Given the description of an element on the screen output the (x, y) to click on. 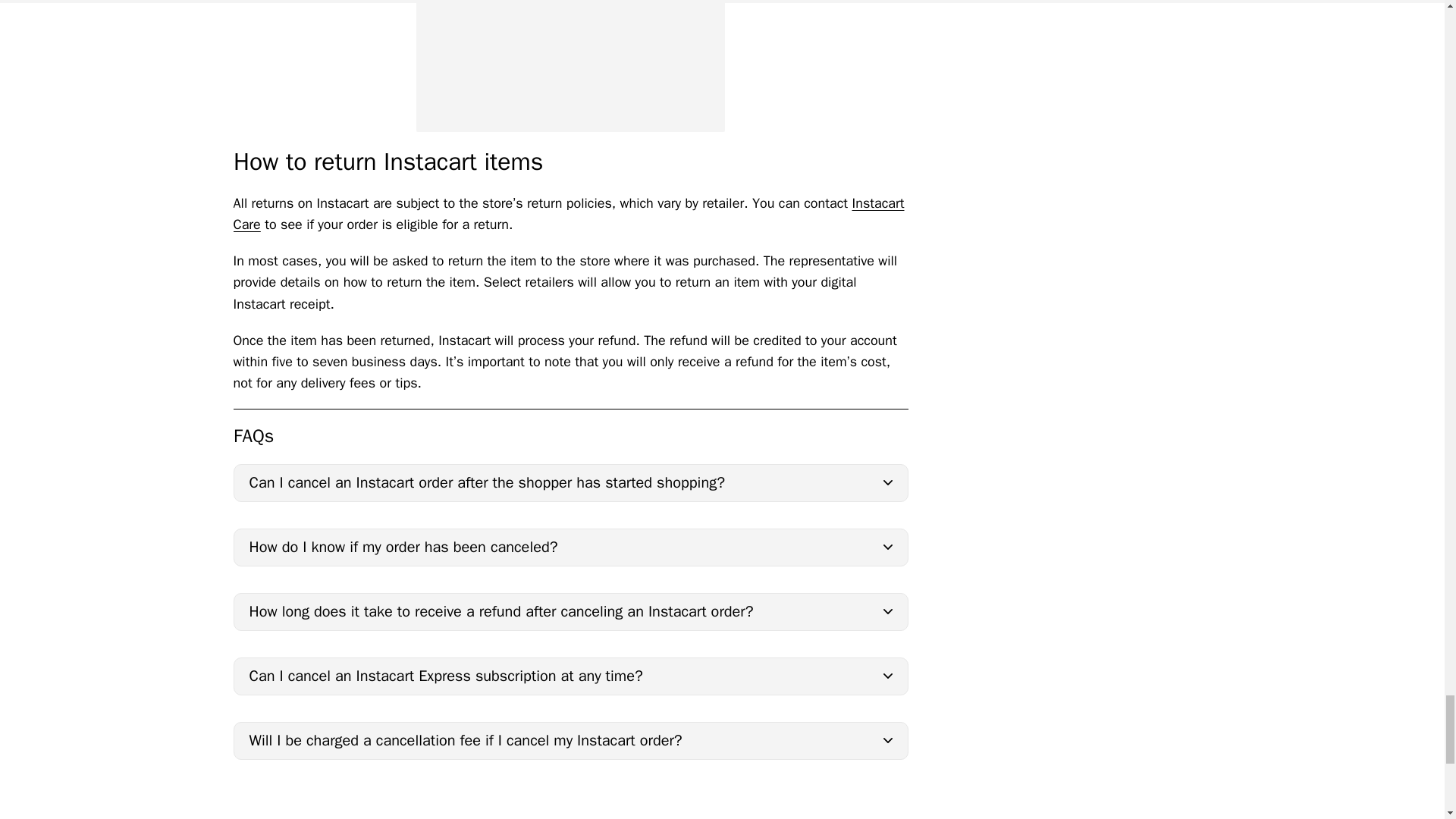
How do I know if my order has been canceled? (570, 547)
7 instacart mobile submit cancellation request (570, 65)
Can I cancel an Instacart Express subscription at any time? (570, 676)
Instacart Care (568, 213)
